Given the description of an element on the screen output the (x, y) to click on. 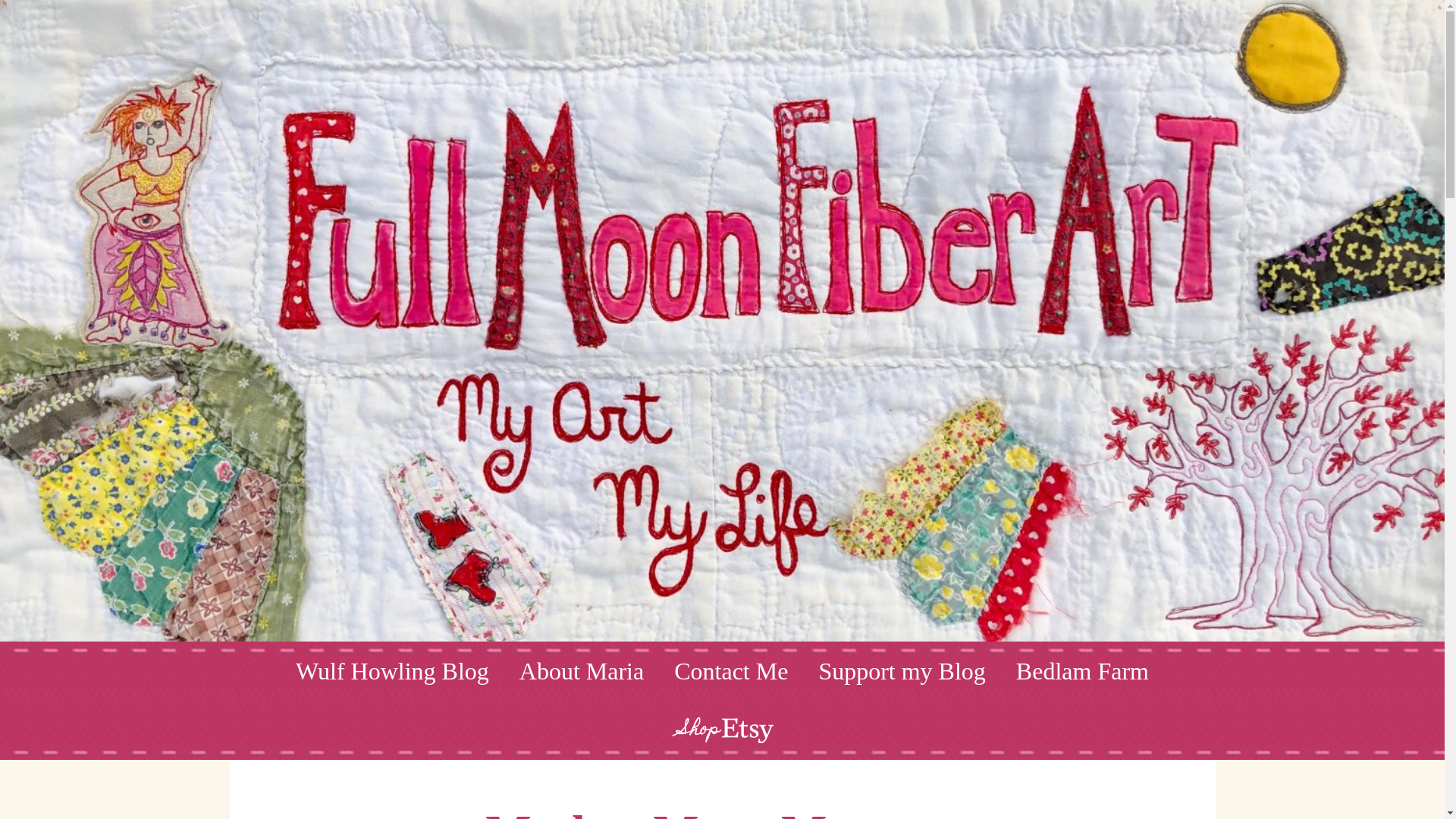
Wulf Howling Blog (392, 671)
About Maria (581, 671)
Shop Etsy (721, 730)
Support my Blog (901, 671)
Bedlam Farm (1082, 671)
Contact Me (731, 671)
